Given the description of an element on the screen output the (x, y) to click on. 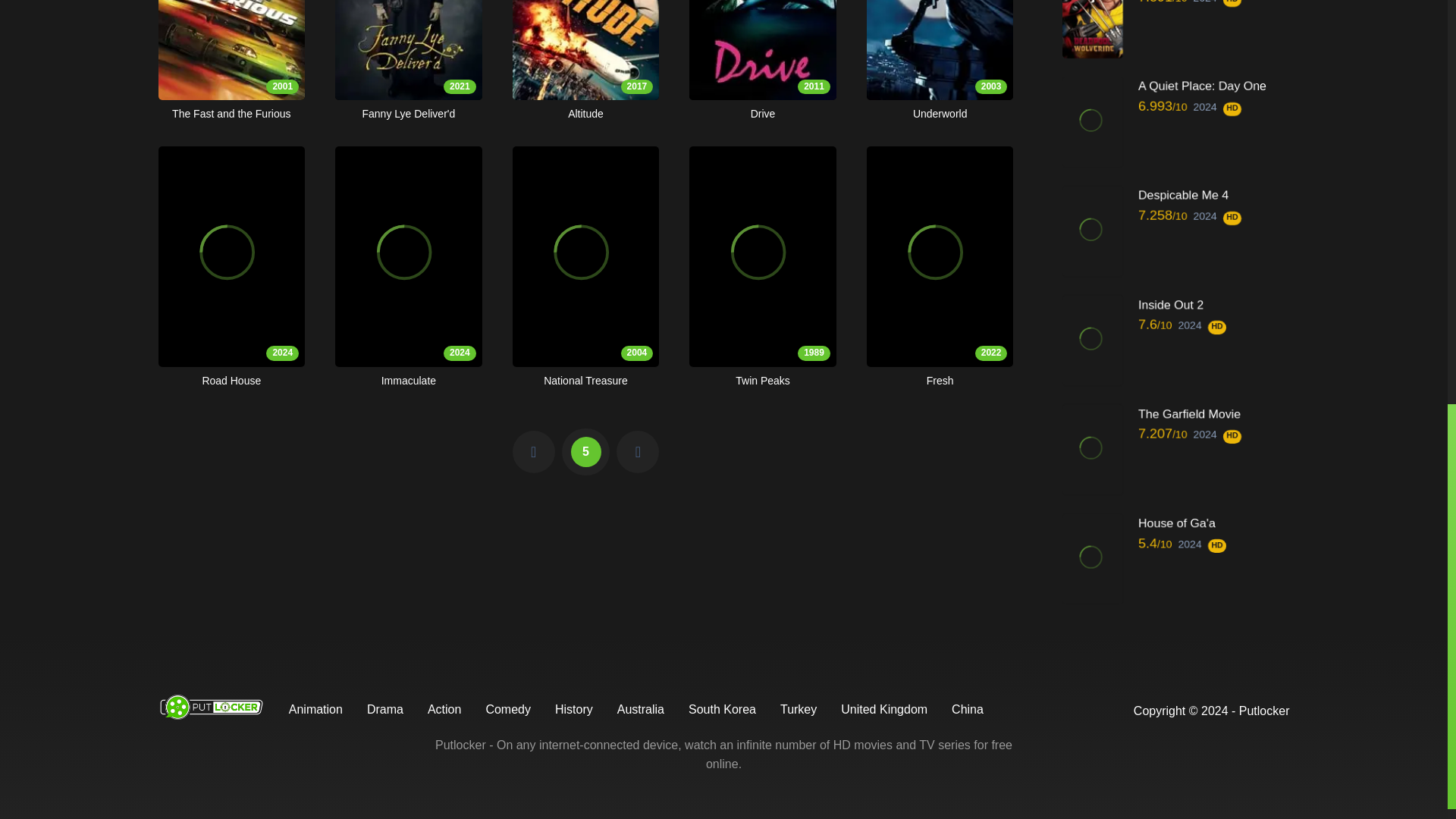
5 (230, 61)
